Given the description of an element on the screen output the (x, y) to click on. 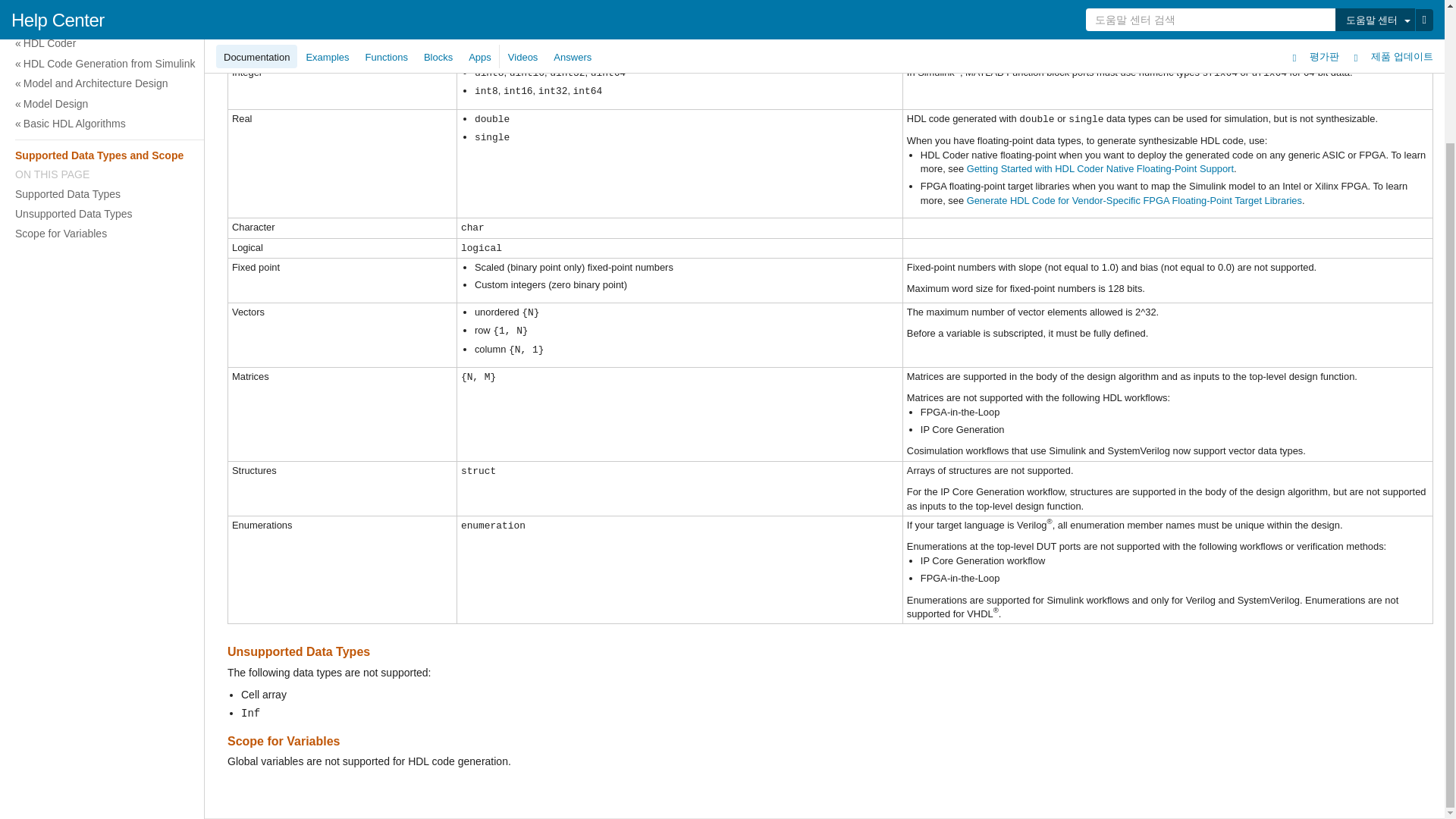
HDL Code Generation from Simulink (720, 63)
HDL Coder (720, 43)
Model Design (720, 103)
FPGA, ASIC, and SoC Development (720, 12)
Supported Data Types and Scope (718, 155)
Supported Data Types and Scope (720, 155)
Basic HDL Algorithms (720, 123)
Model and Architecture Design (720, 83)
